Given the description of an element on the screen output the (x, y) to click on. 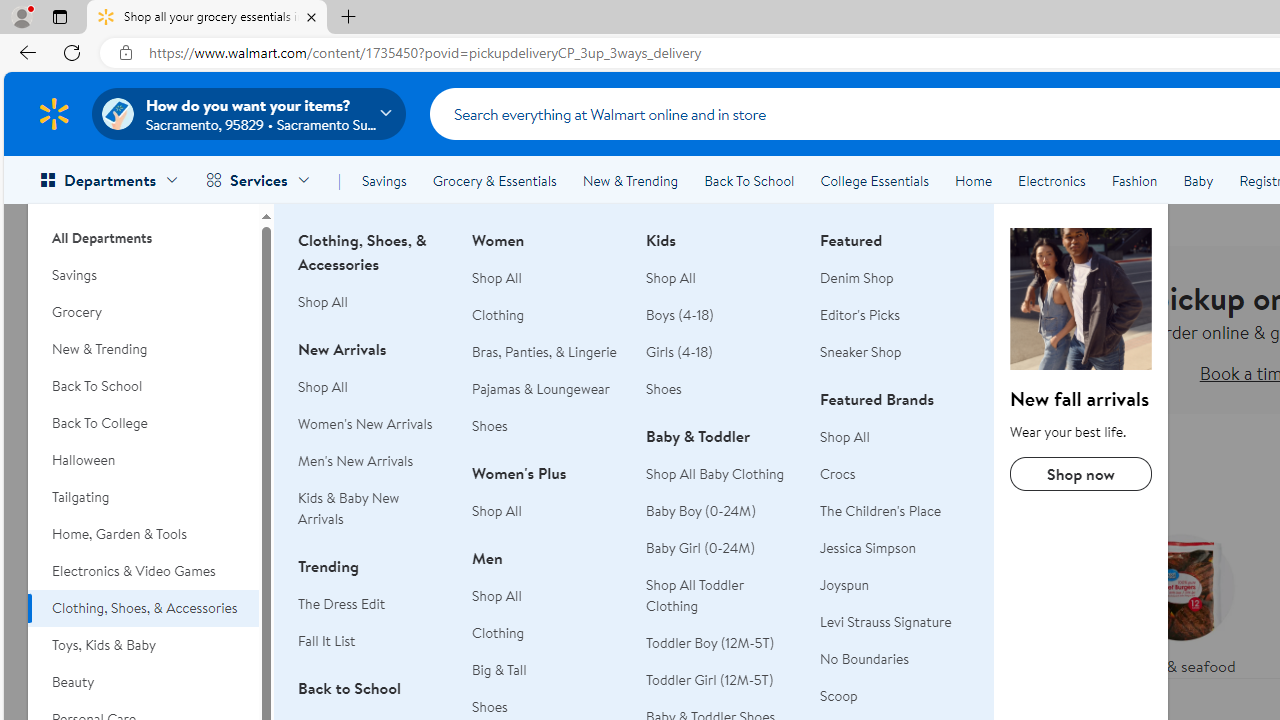
Boys (4-18) (680, 314)
Home, Garden & Tools (143, 534)
Editor's Picks (895, 315)
Savings (384, 180)
Big & Tall (499, 669)
Clothing, Shoes, & Accessories  (1080, 299)
Grocery & Essentials (493, 180)
The Dress Edit (373, 604)
Shop All (895, 436)
Shop All Toddler Clothing (694, 595)
Women's PlusShop All (547, 502)
Beauty (143, 682)
Shoes (664, 388)
Back To School (749, 180)
